Given the description of an element on the screen output the (x, y) to click on. 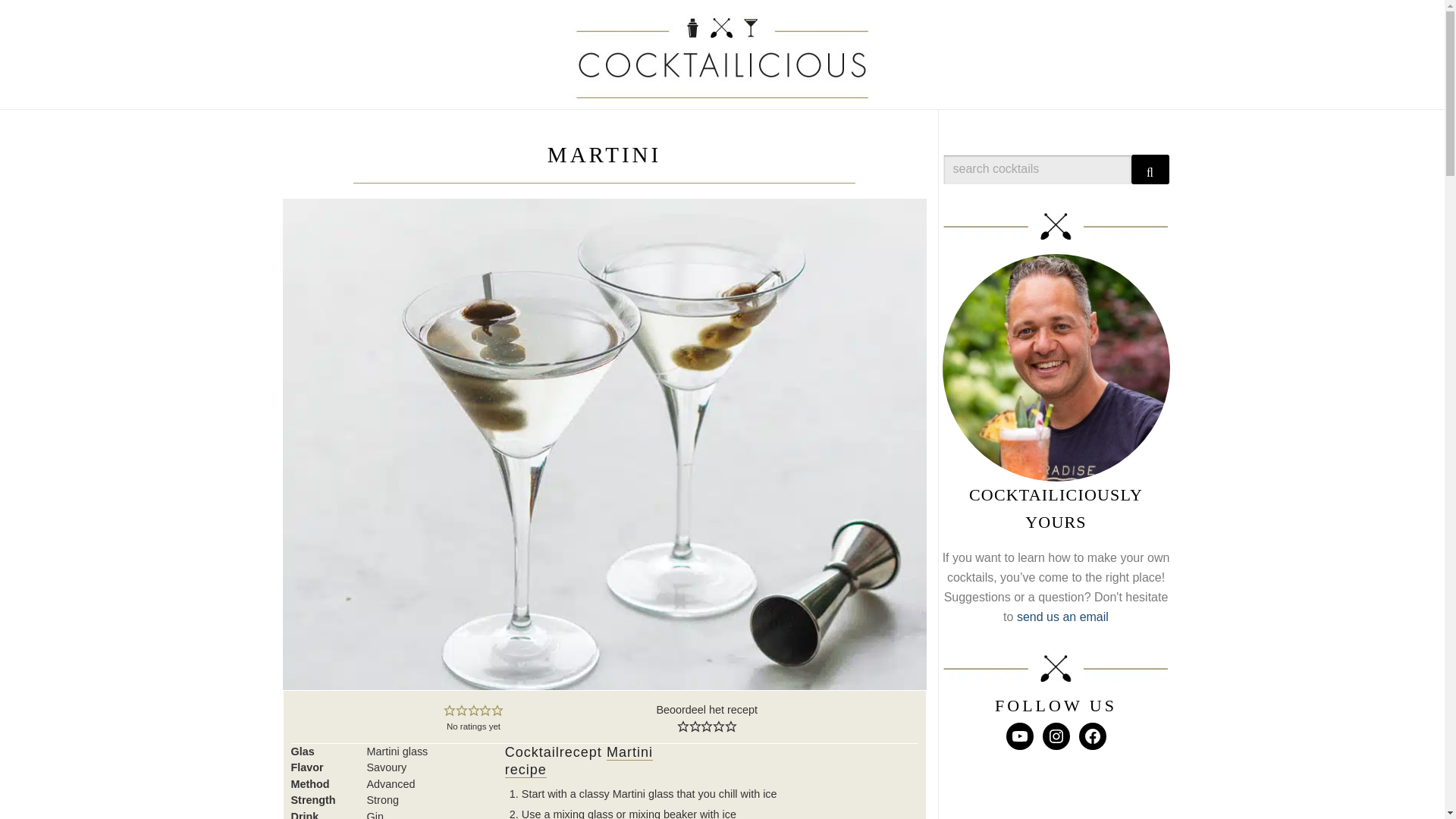
Instagram (1055, 736)
YouTube (1019, 736)
Facebook (1091, 736)
send us an email (1062, 616)
